Given the description of an element on the screen output the (x, y) to click on. 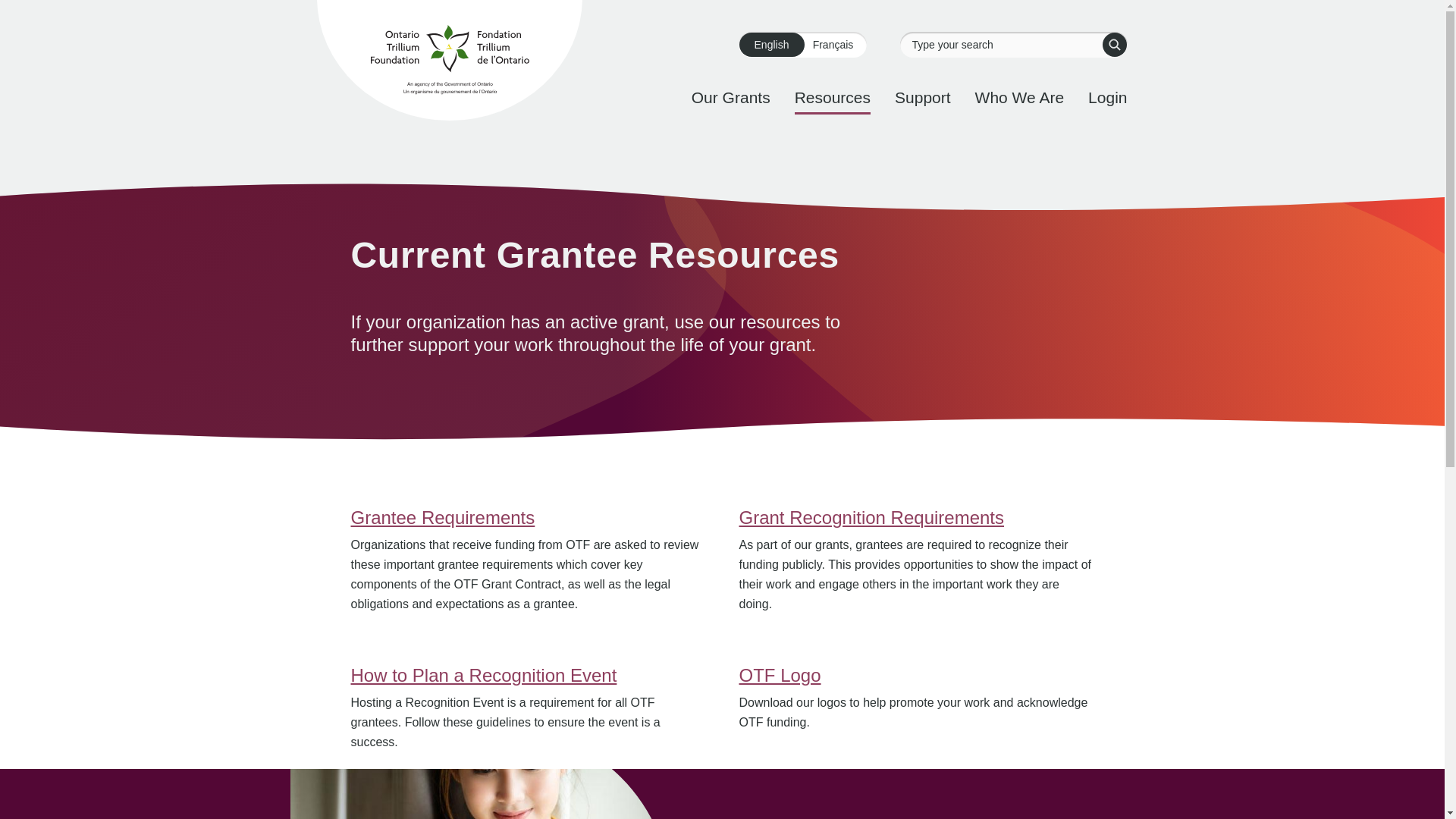
Home (448, 63)
Resources (832, 97)
Our Grants (731, 97)
English (770, 44)
